Given the description of an element on the screen output the (x, y) to click on. 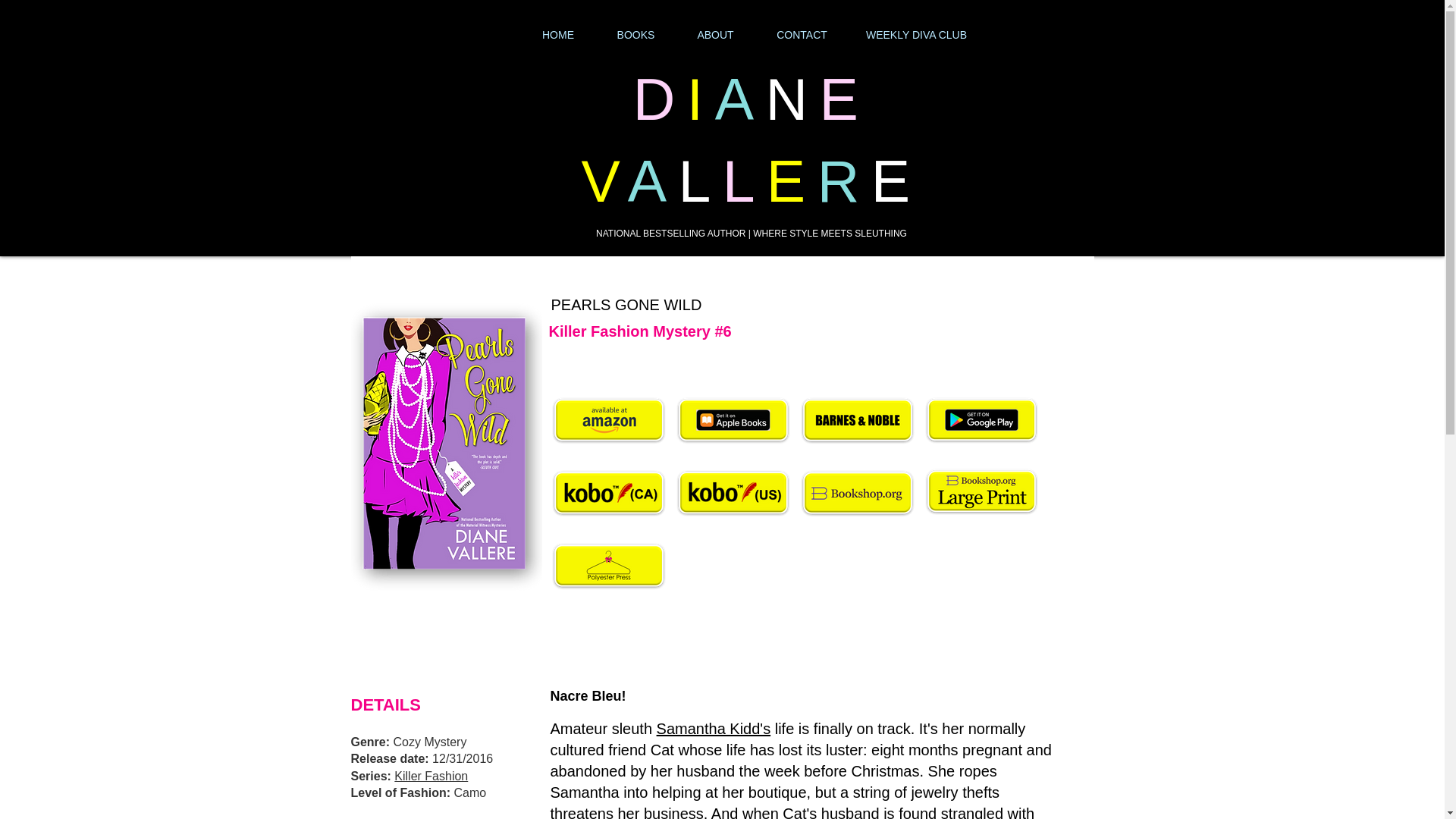
BOOKS (636, 34)
Killer Fashion Mystery (629, 330)
ABOUT (716, 34)
Killer Fashion (430, 775)
WEEKLY DIVA CLUB (916, 34)
Samantha Kidd's (713, 728)
CONTACT (801, 34)
HOME (557, 34)
